Given the description of an element on the screen output the (x, y) to click on. 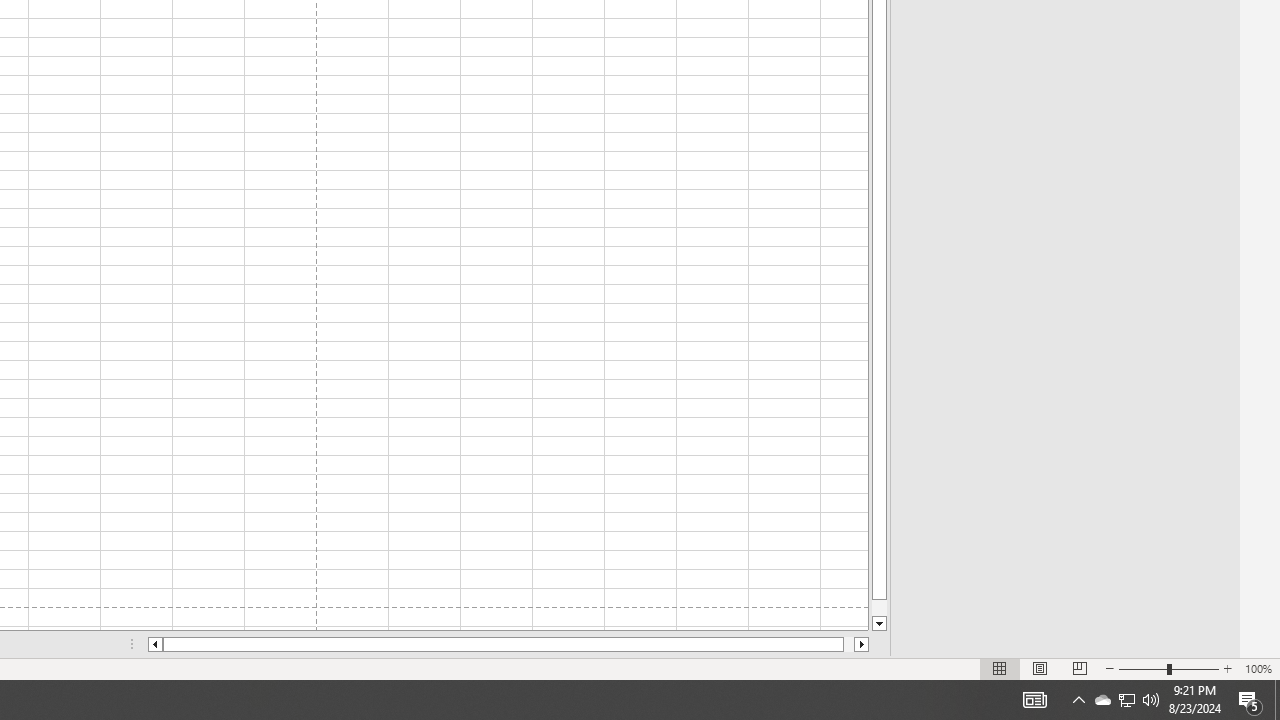
Normal (1000, 668)
Line down (879, 624)
Class: NetUIScrollBar (507, 644)
